Given the description of an element on the screen output the (x, y) to click on. 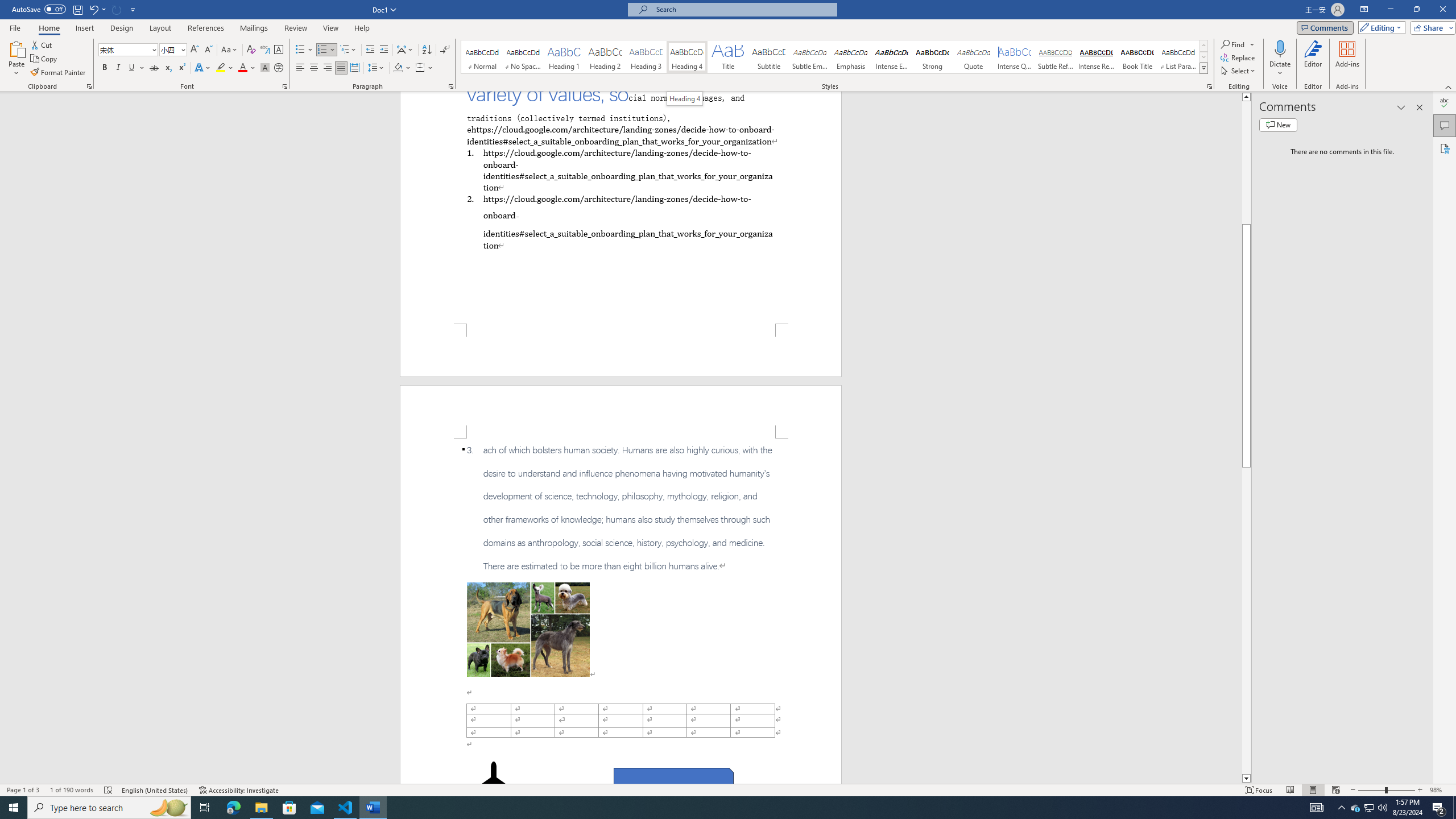
Replace... (1237, 56)
Select (1238, 69)
Font (124, 49)
Format Painter (58, 72)
1. (620, 169)
Intense Emphasis (891, 56)
Dictate (1280, 58)
Center (313, 67)
Find (1237, 44)
Cut (42, 44)
Print Layout (1312, 790)
Subscript (167, 67)
Borders (424, 67)
Insert (83, 28)
Sort... (426, 49)
